Given the description of an element on the screen output the (x, y) to click on. 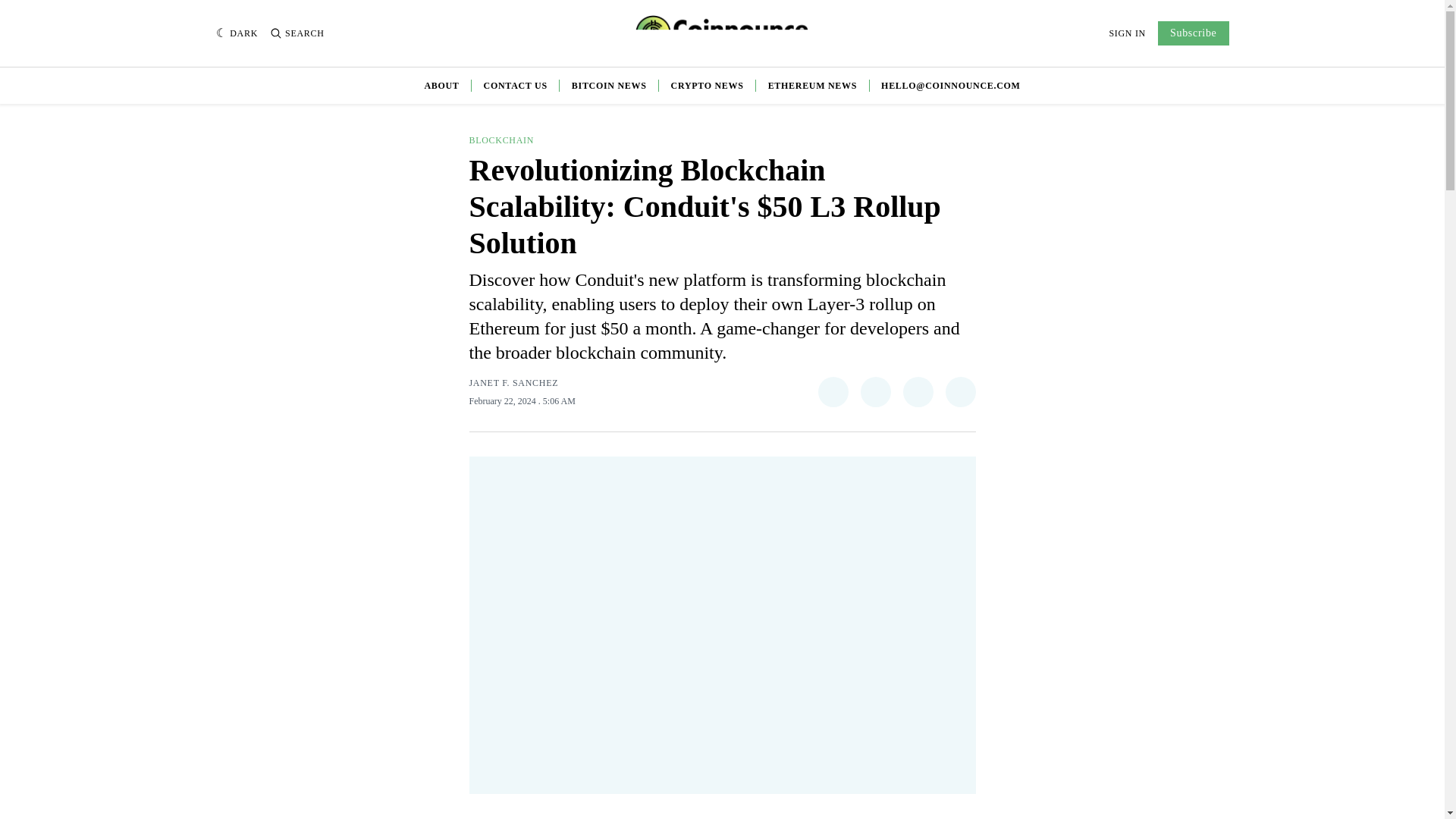
Share via Email (959, 391)
BITCOIN NEWS (609, 85)
Share on LinkedIn (917, 391)
CRYPTO NEWS (707, 85)
Dark (236, 32)
CONTACT US (515, 85)
JANET F. SANCHEZ (512, 382)
ETHEREUM NEWS (812, 85)
Share on Facebook (874, 391)
Share on Twitter (831, 391)
SEARCH (296, 33)
SIGN IN (1126, 33)
Subscribe (1192, 33)
DARK (236, 32)
ABOUT (440, 85)
